Given the description of an element on the screen output the (x, y) to click on. 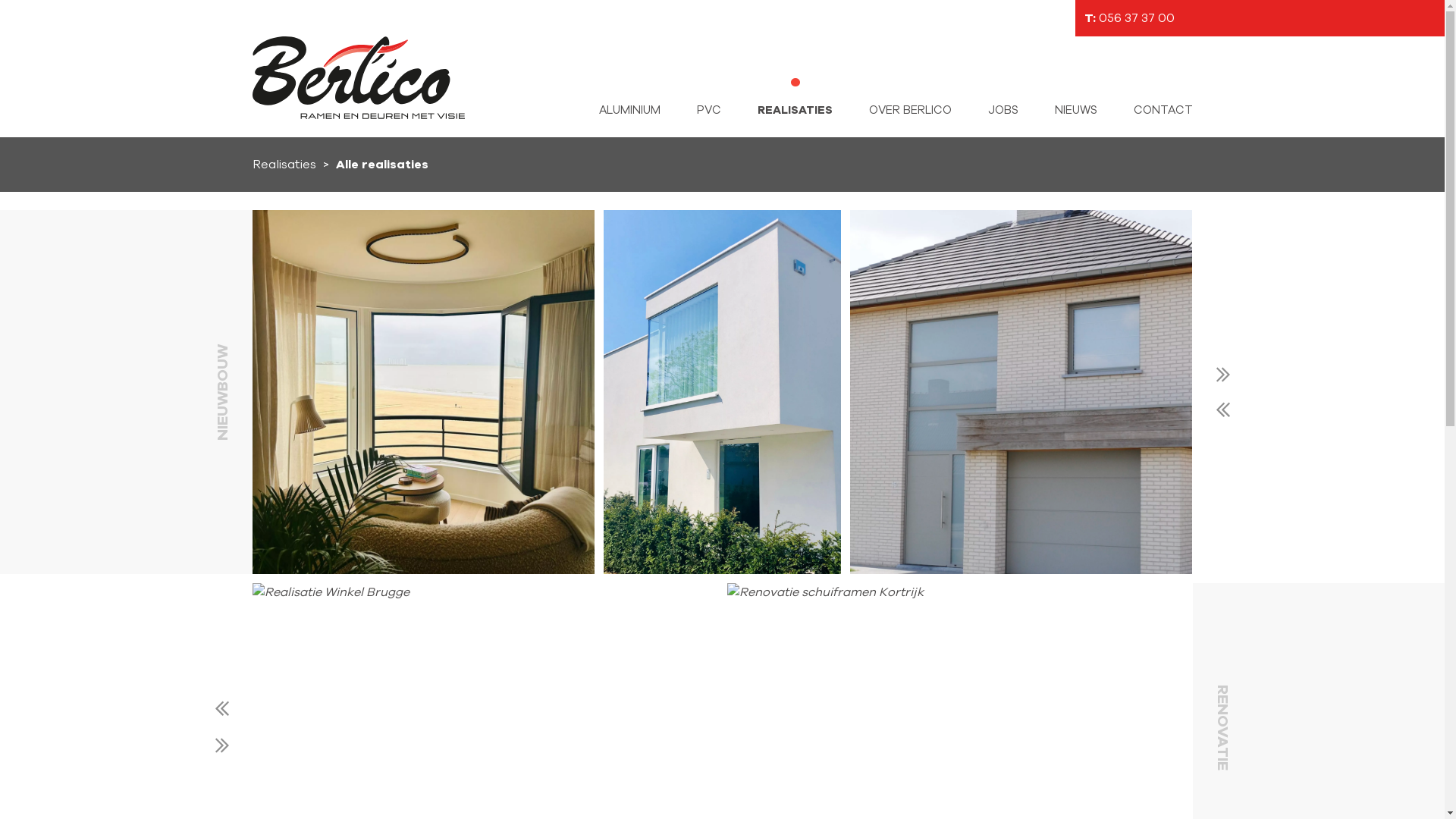
OVER BERLICO Element type: text (910, 110)
JOBS Element type: text (1002, 110)
ALUMINIUM Element type: text (629, 110)
PVC Element type: text (708, 110)
REALISATIES Element type: text (793, 110)
056 37 37 00 Element type: text (1135, 17)
berlico
NL Element type: text (357, 77)
NIEUWS Element type: text (1075, 110)
CONTACT Element type: text (1162, 110)
Realisaties Element type: text (283, 164)
